Given the description of an element on the screen output the (x, y) to click on. 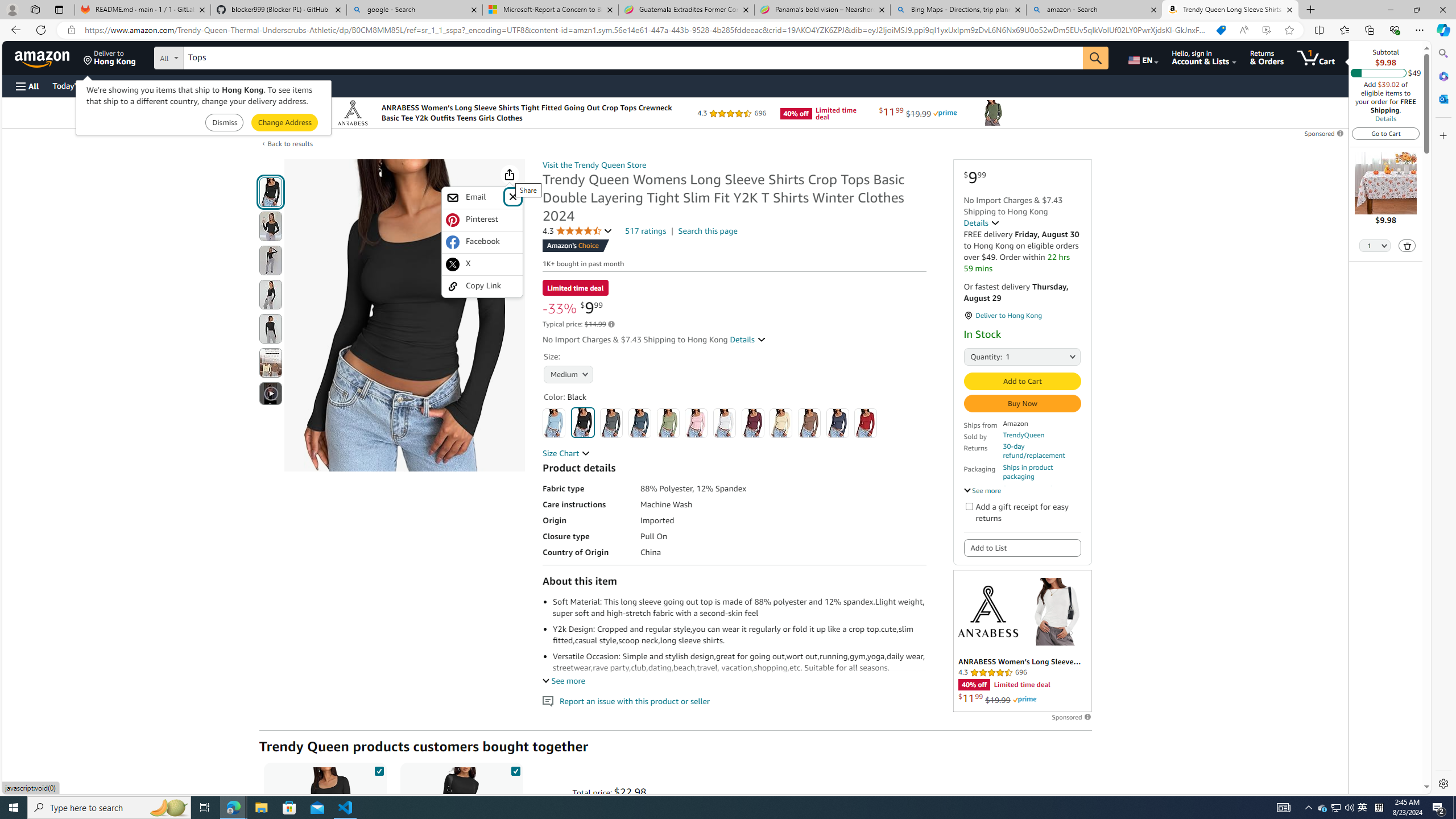
Gray (611, 422)
Red (865, 422)
Open Menu (26, 86)
Search this page (708, 230)
Close Share Popup (512, 196)
Hello, sign in Account & Lists (1203, 57)
Deliver to Hong Kong (109, 57)
Ships in product packaging (1042, 471)
